Given the description of an element on the screen output the (x, y) to click on. 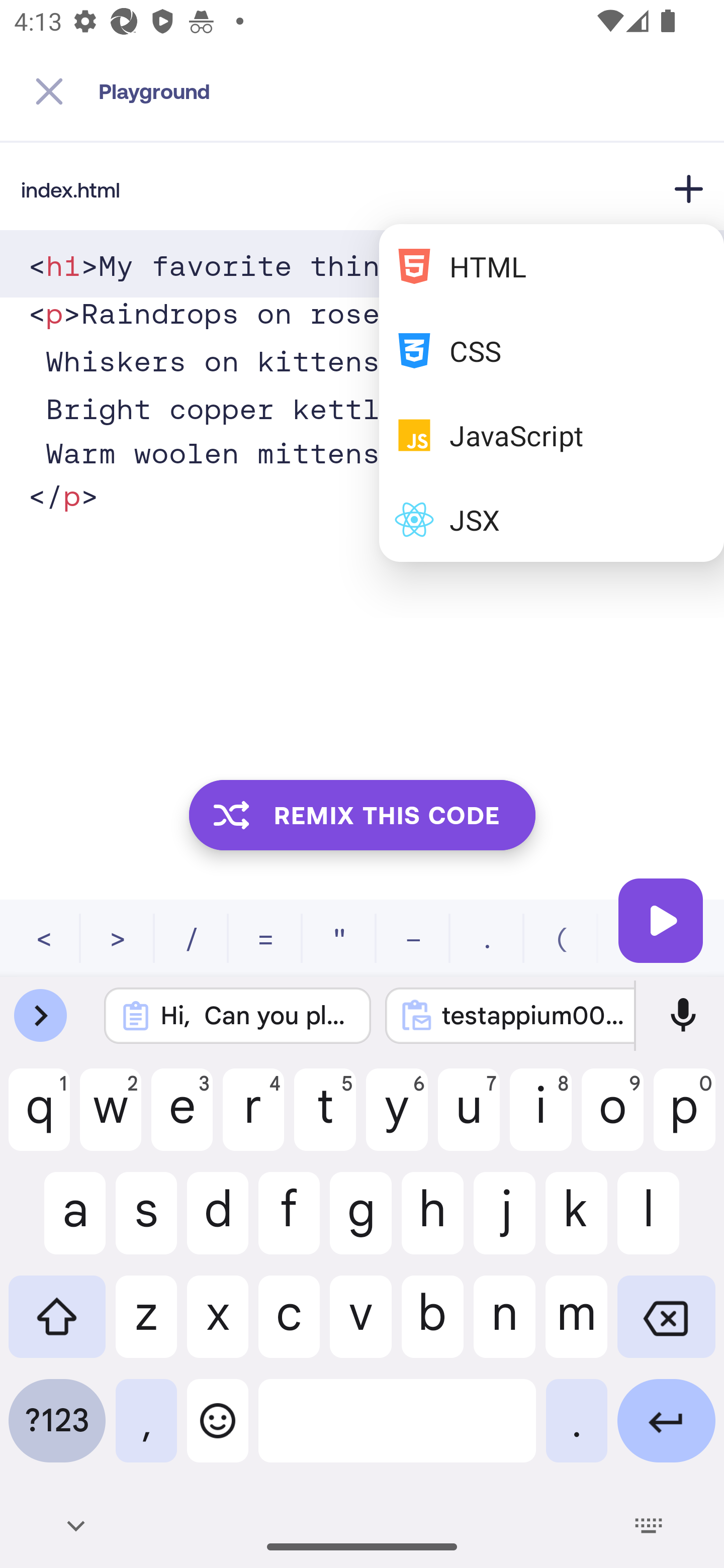
HTML (551, 266)
CSS (551, 350)
JavaScript (551, 434)
JSX (551, 518)
